Given the description of an element on the screen output the (x, y) to click on. 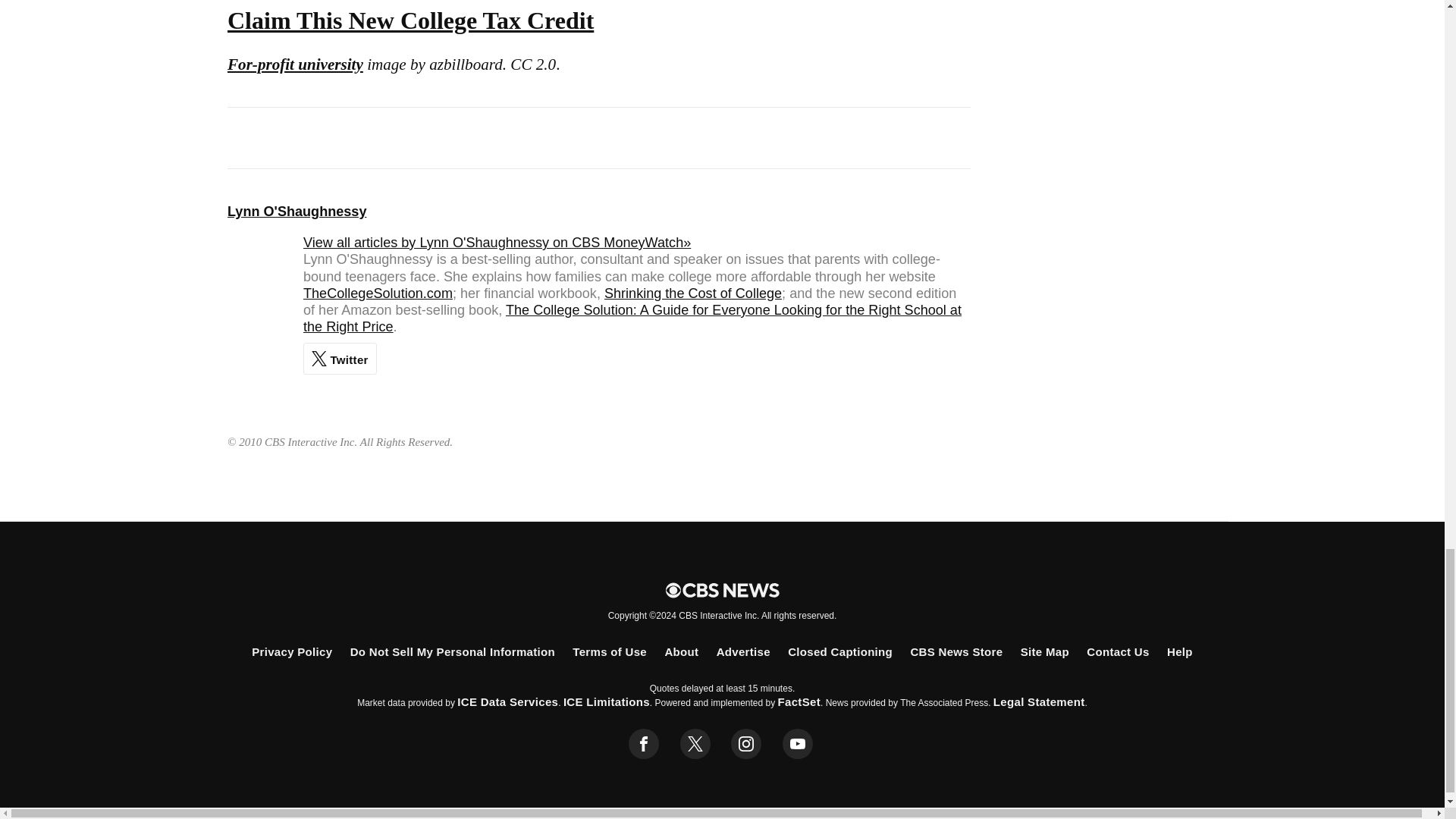
youtube (797, 743)
facebook (643, 743)
twitter (694, 743)
instagram (745, 743)
